Given the description of an element on the screen output the (x, y) to click on. 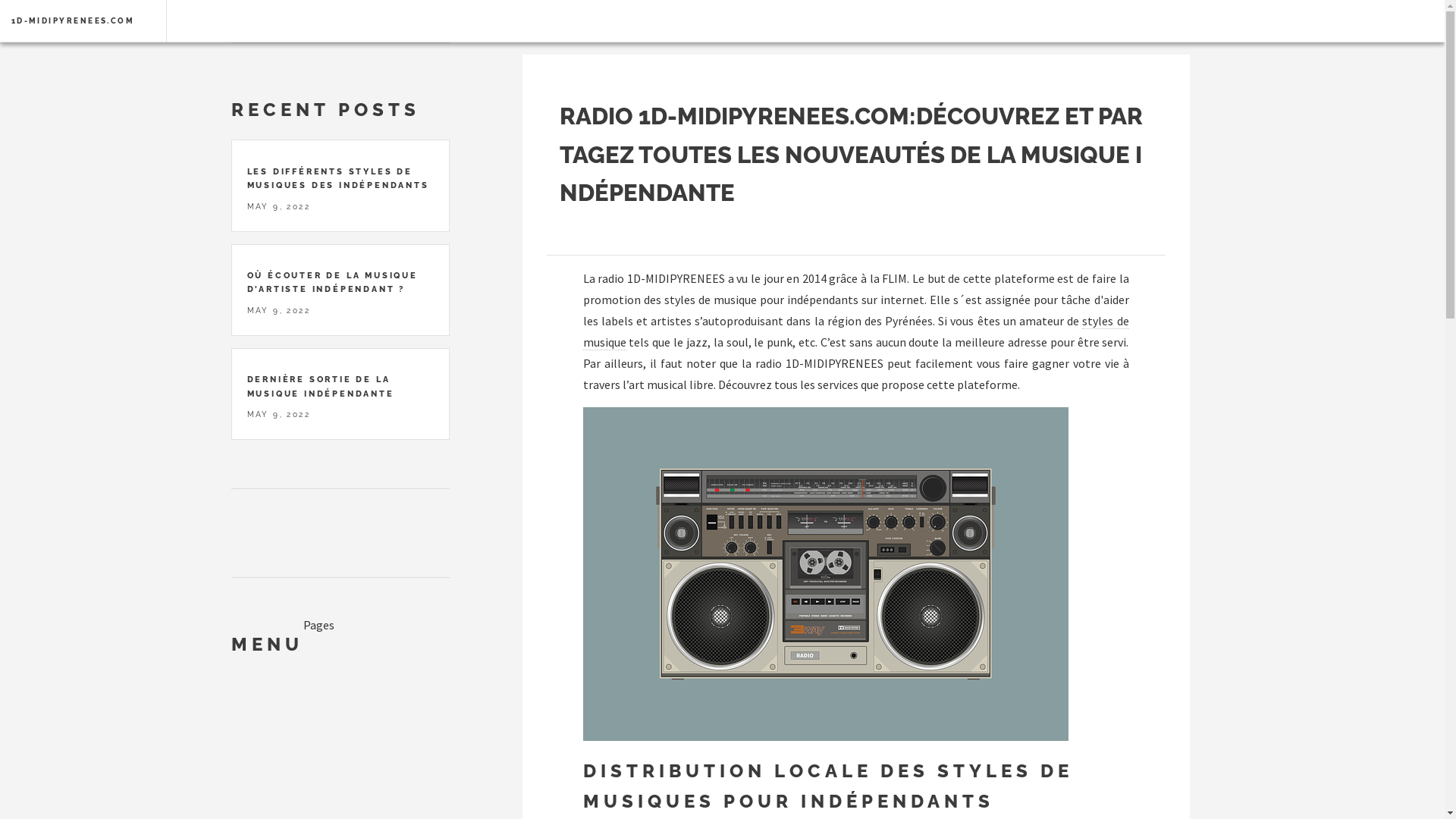
1D-MIDIPYRENEES.COM Element type: text (72, 21)
styles de musique Element type: text (855, 331)
